Given the description of an element on the screen output the (x, y) to click on. 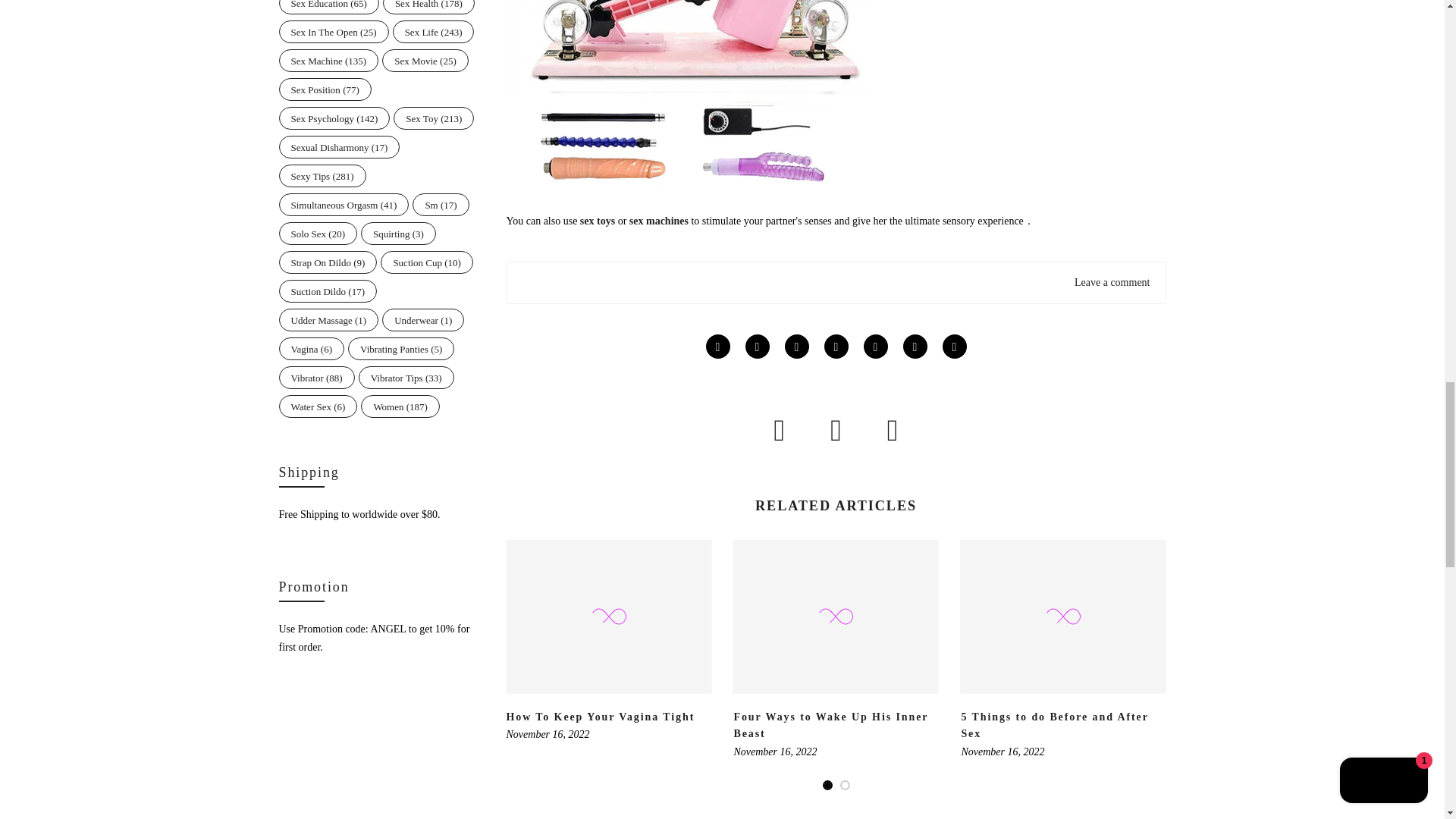
sex machine hentai game (658, 220)
best sex machines (596, 220)
best sex machines (688, 29)
